Given the description of an element on the screen output the (x, y) to click on. 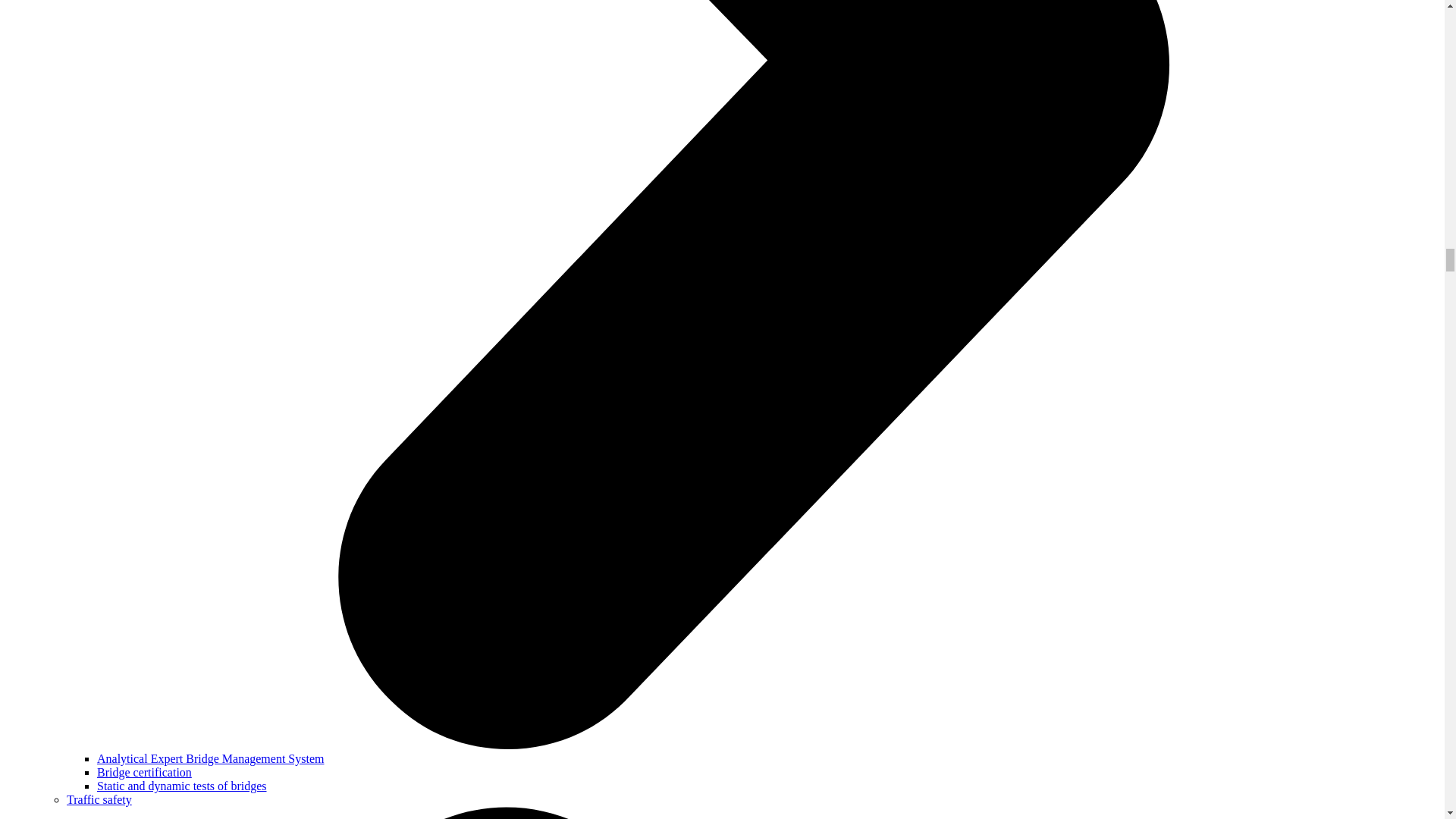
Bridge certification (144, 771)
Analytical Expert Bridge Management System (210, 758)
Static and dynamic tests of bridges (181, 785)
